Given the description of an element on the screen output the (x, y) to click on. 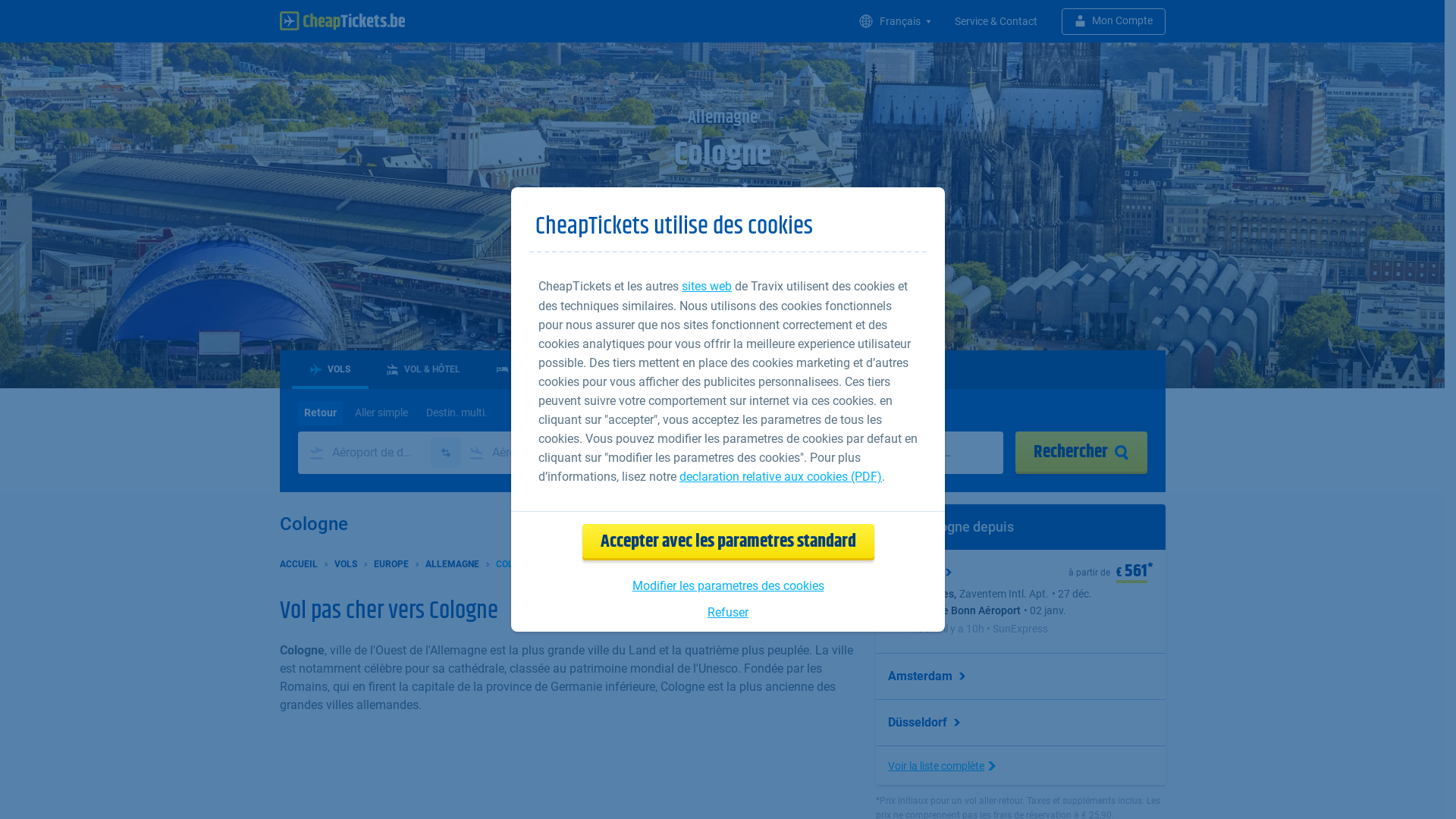
Service & Contact Element type: text (994, 21)
Rechercher Element type: text (1080, 452)
VOLS Element type: text (344, 562)
declaration relative aux cookies (PDF) Element type: text (780, 476)
Mon Compte Element type: text (1113, 20)
ALLEMAGNE Element type: text (451, 562)
ACCUEIL Element type: text (297, 562)
sites web Element type: text (706, 286)
Accepter avec les parametres standard Element type: text (728, 542)
EUROPE Element type: text (390, 562)
